Given the description of an element on the screen output the (x, y) to click on. 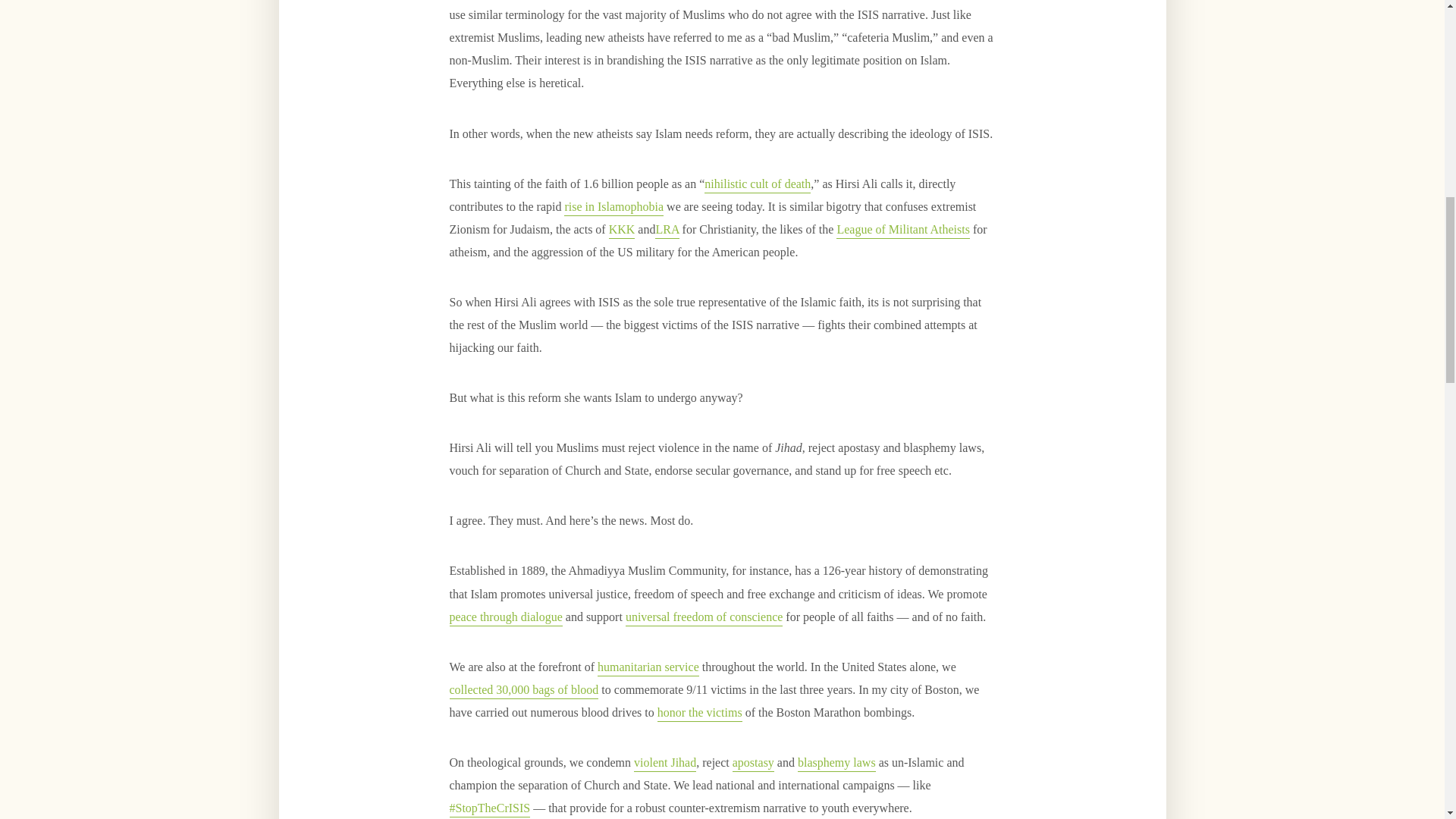
honor the victims (700, 713)
peace through dialogue (505, 618)
nihilistic cult of death (757, 185)
collected 30,000 bags of blood (523, 691)
rise in Islamophobia (613, 207)
violent Jihad (664, 763)
League of Militant Atheists (902, 230)
universal freedom of conscience (704, 618)
LRA (666, 230)
apostasy (753, 763)
